Given the description of an element on the screen output the (x, y) to click on. 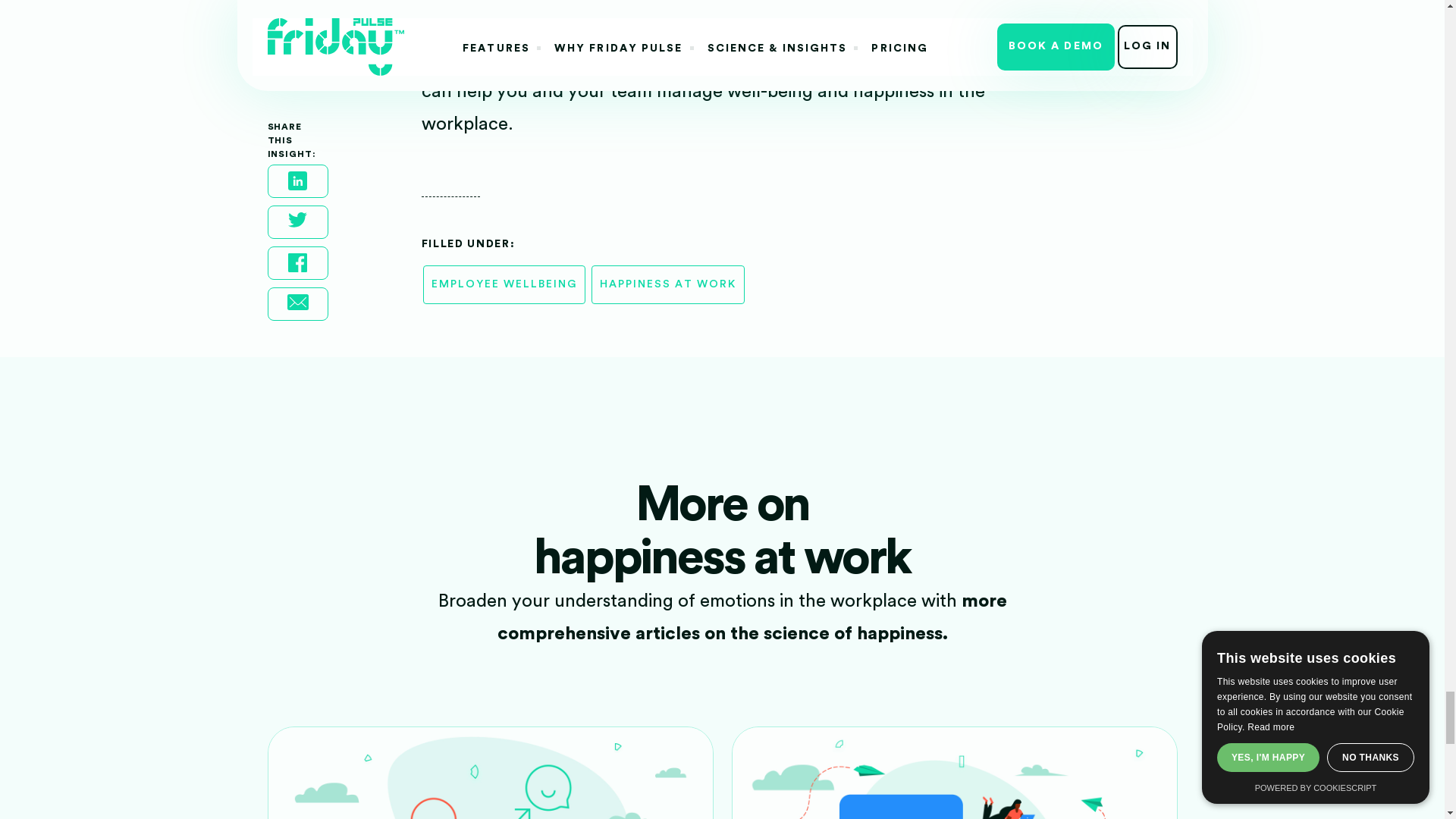
EMPLOYEE WELLBEING (504, 284)
Get in touch (473, 58)
HAPPINESS AT WORK (667, 284)
